Given the description of an element on the screen output the (x, y) to click on. 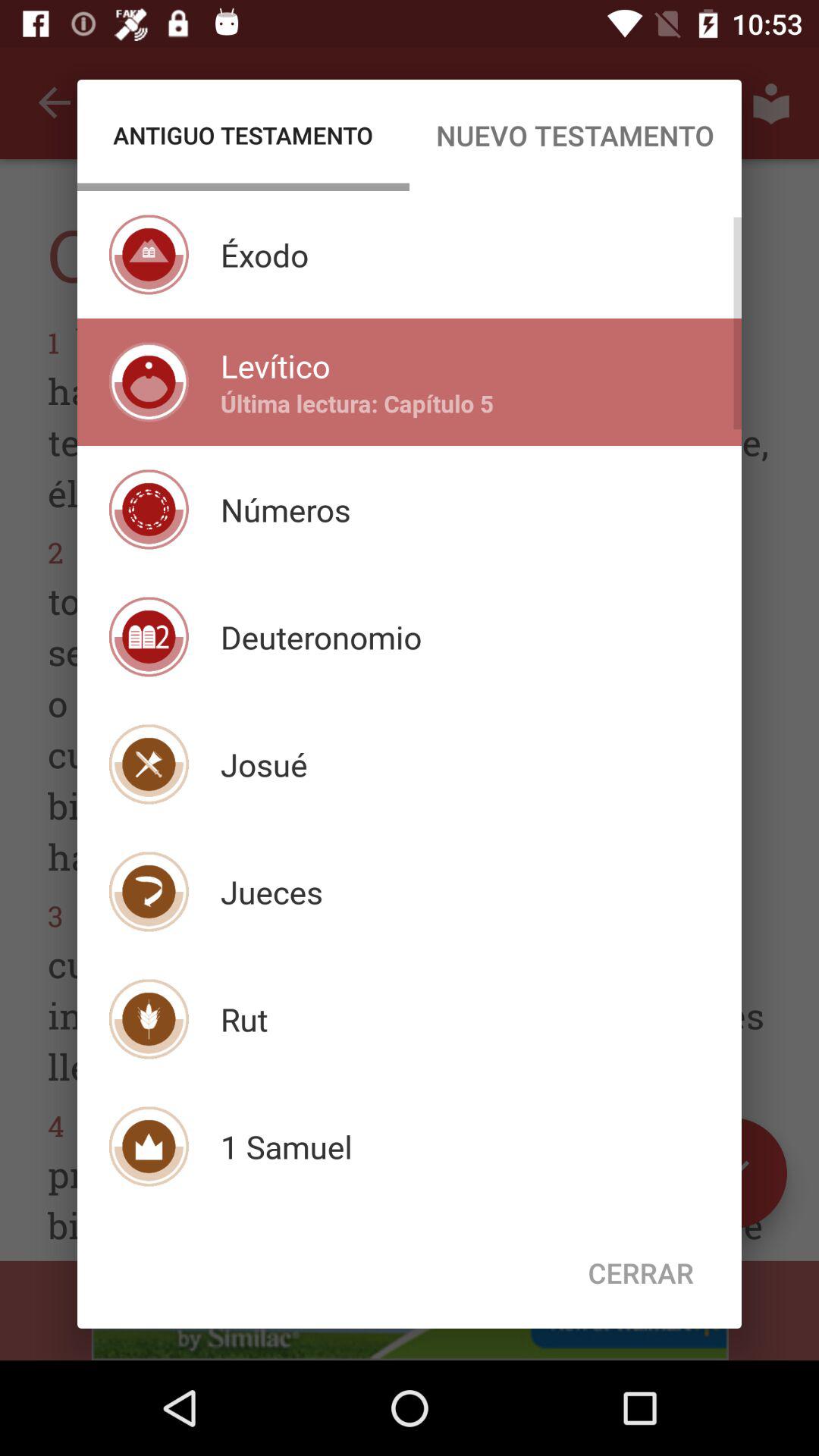
jump to rut item (243, 1018)
